Given the description of an element on the screen output the (x, y) to click on. 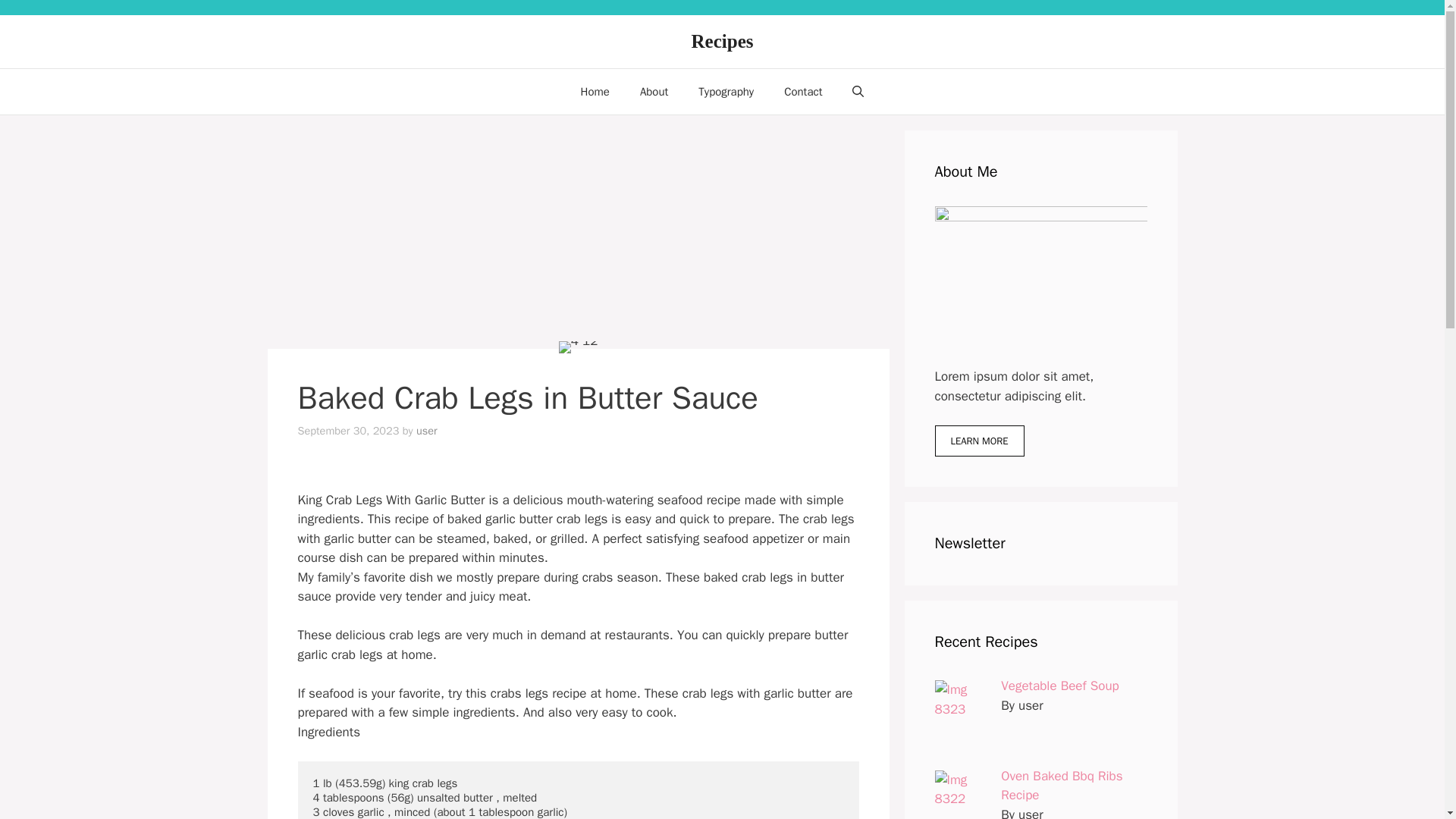
About (653, 91)
Home (595, 91)
Oven Baked Bbq Ribs Recipe (1061, 785)
View all posts by user (427, 430)
Advertisement (577, 236)
user (427, 430)
Baked Crab Legs in Butter Sauce 1 (578, 346)
LEARN MORE (978, 441)
Contact (802, 91)
Vegetable Beef Soup (1060, 685)
